Given the description of an element on the screen output the (x, y) to click on. 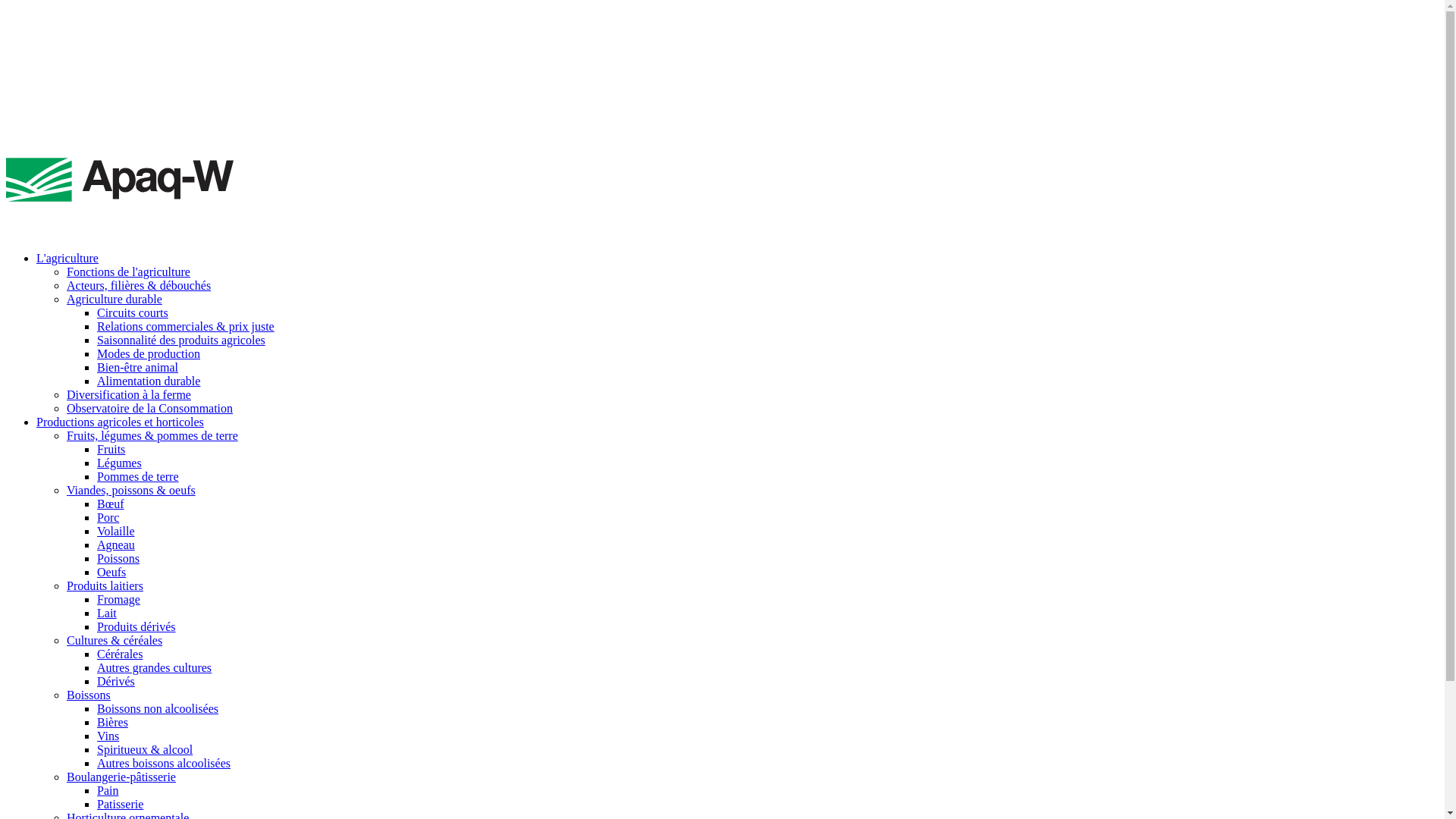
Circuits courts Element type: text (132, 312)
Agneau Element type: text (115, 544)
Pain Element type: text (107, 790)
Productions agricoles et horticoles Element type: text (119, 421)
Viandes, poissons & oeufs Element type: text (130, 489)
Patisserie Element type: text (120, 803)
Spiritueux & alcool Element type: text (144, 749)
Modes de production Element type: text (148, 353)
Lait Element type: text (106, 612)
Relations commerciales & prix juste Element type: text (185, 326)
Boissons Element type: text (88, 694)
Vins Element type: text (108, 735)
Fonctions de l'agriculture Element type: text (128, 271)
Agriculture durable Element type: text (114, 298)
Alimentation durable Element type: text (148, 380)
Fruits Element type: text (111, 448)
L'agriculture Element type: text (67, 257)
Observatoire de la Consommation Element type: text (149, 407)
Oeufs Element type: text (111, 571)
Poissons Element type: text (118, 558)
Autres grandes cultures Element type: text (154, 667)
Fromage Element type: text (118, 599)
Volaille Element type: text (115, 530)
Produits laitiers Element type: text (104, 585)
Porc Element type: text (108, 517)
Pommes de terre Element type: text (137, 476)
